Given the description of an element on the screen output the (x, y) to click on. 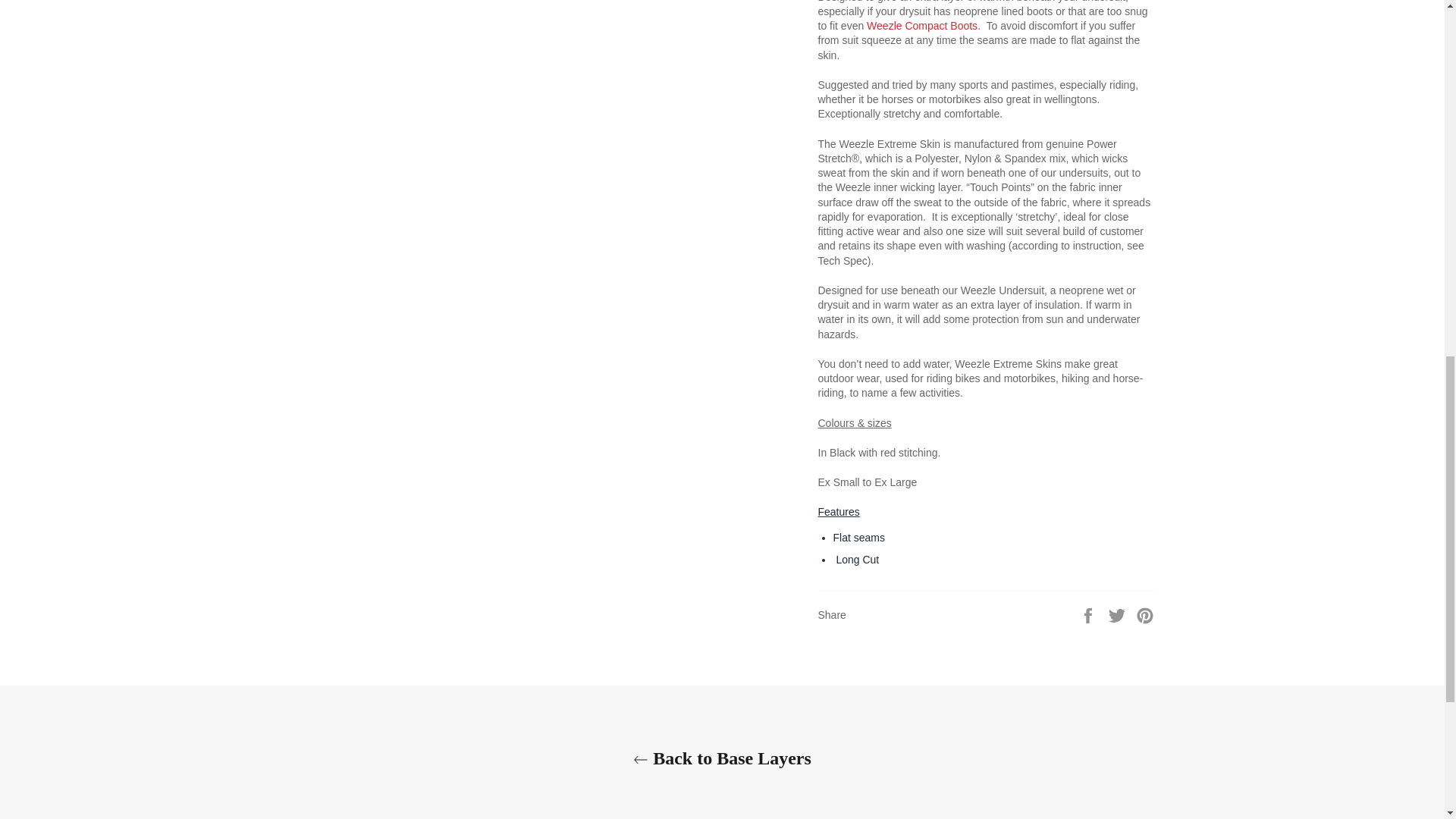
Back to Base Layers (721, 758)
Tweet on Twitter (1118, 613)
Weezle Compact Boots (921, 25)
Weezle Compact Boots (921, 25)
Share on Facebook (1089, 613)
Tweet on Twitter (1118, 613)
Pin on Pinterest (1144, 613)
Pin on Pinterest (1144, 613)
Share on Facebook (1089, 613)
